Given the description of an element on the screen output the (x, y) to click on. 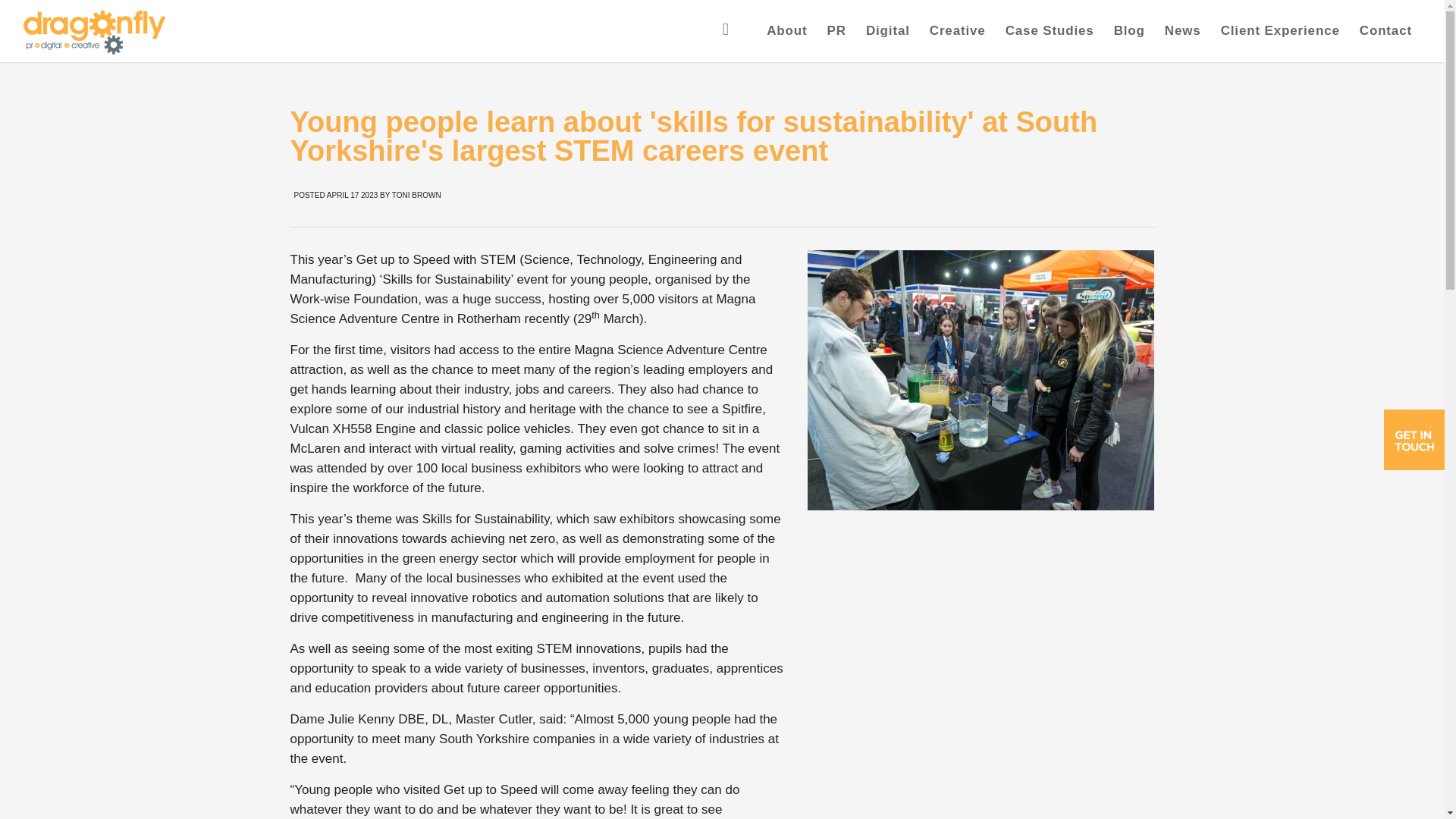
News (1182, 31)
Digital (888, 31)
Contact (1385, 31)
Client Experience (1280, 31)
Case Studies (1049, 31)
Creative (957, 31)
About (786, 31)
